Given the description of an element on the screen output the (x, y) to click on. 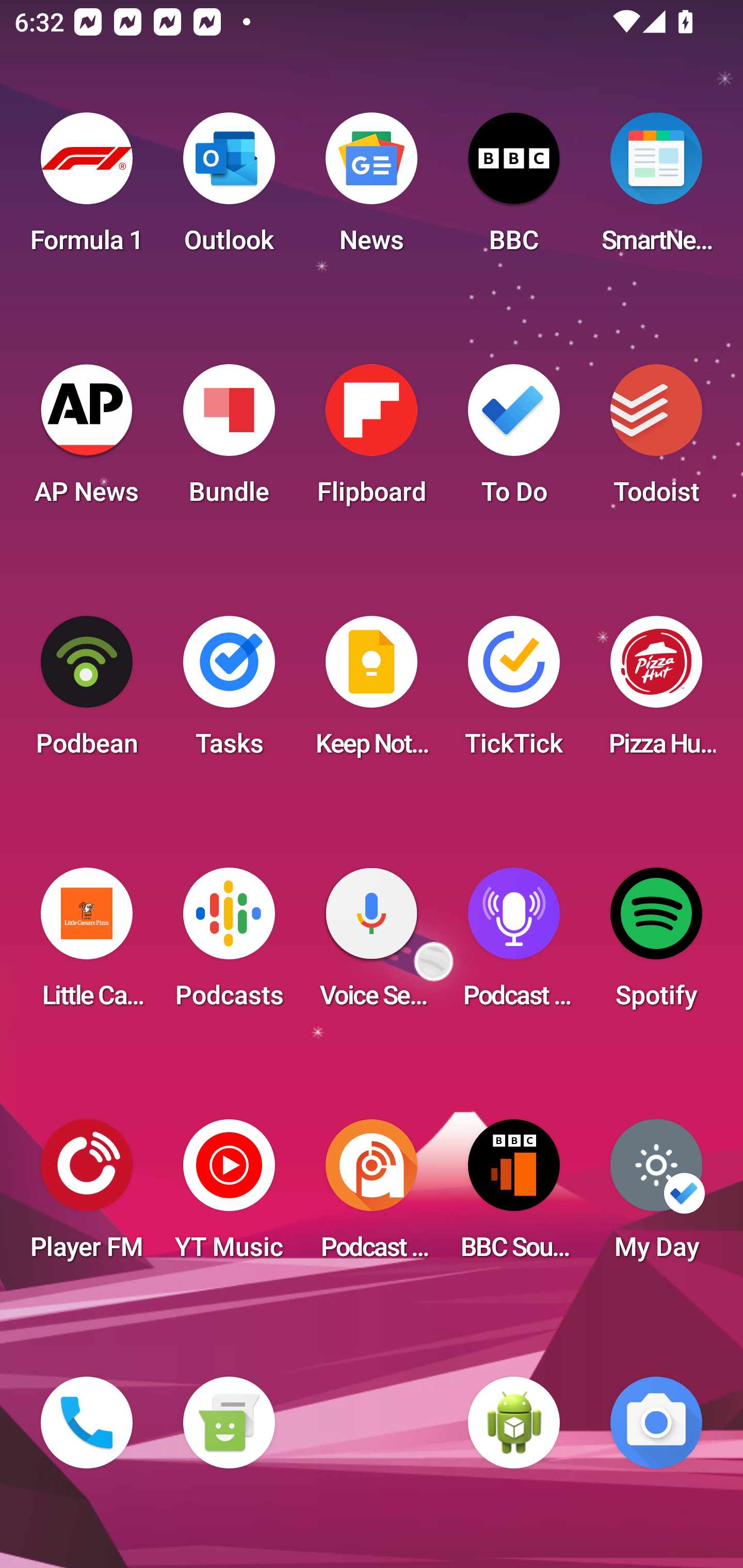
Formula 1 (86, 188)
Outlook (228, 188)
News (371, 188)
BBC (513, 188)
SmartNews (656, 188)
AP News (86, 440)
Bundle (228, 440)
Flipboard (371, 440)
To Do (513, 440)
Todoist (656, 440)
Podbean (86, 692)
Tasks (228, 692)
Keep Notes (371, 692)
TickTick (513, 692)
Pizza Hut HK & Macau (656, 692)
Little Caesars Pizza (86, 943)
Podcasts (228, 943)
Voice Search (371, 943)
Podcast Player (513, 943)
Spotify (656, 943)
Player FM (86, 1195)
YT Music (228, 1195)
Podcast Addict (371, 1195)
BBC Sounds (513, 1195)
My Day (656, 1195)
Phone (86, 1422)
Messaging (228, 1422)
WebView Browser Tester (513, 1422)
Camera (656, 1422)
